Given the description of an element on the screen output the (x, y) to click on. 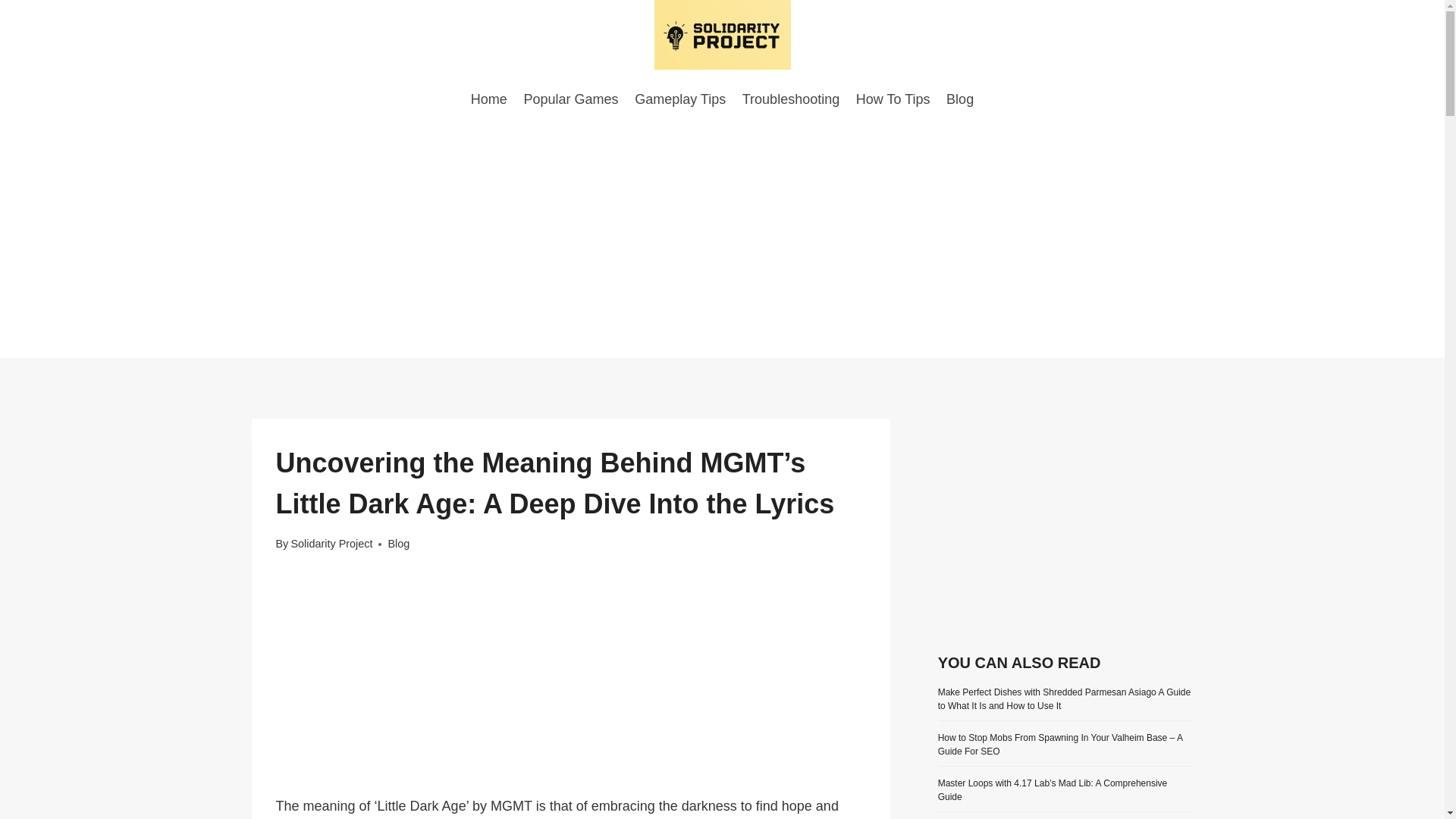
Home (489, 98)
Popular Games (571, 98)
Advertisement (1065, 524)
Troubleshooting (790, 98)
Gameplay Tips (679, 98)
How To Tips (892, 98)
Blog (398, 543)
Blog (959, 98)
Advertisement (571, 683)
